Given the description of an element on the screen output the (x, y) to click on. 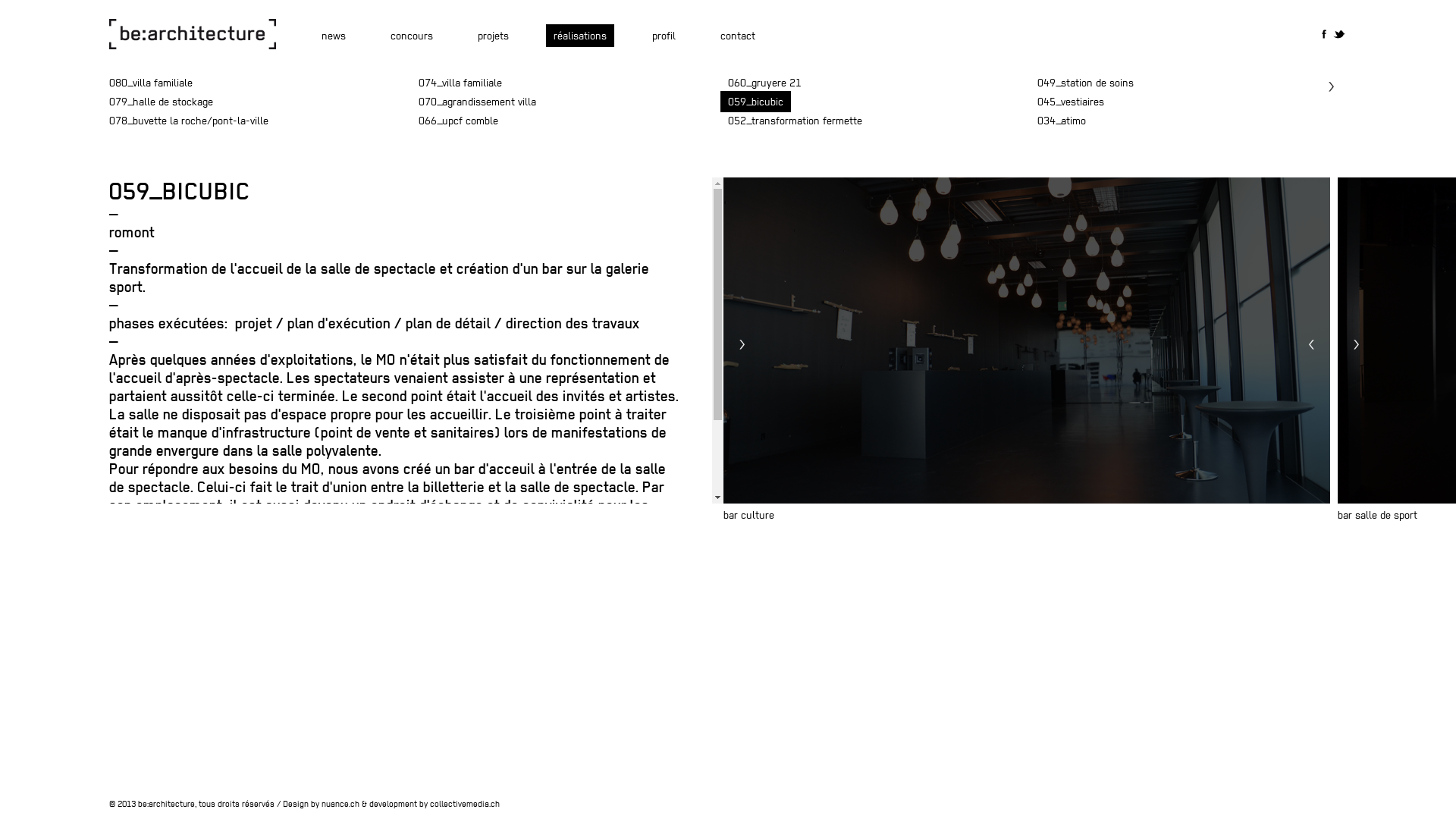
news Element type: text (333, 35)
066_upcf comble Element type: text (458, 120)
070_agrandissement villa Element type: text (477, 101)
concours Element type: text (411, 35)
045_vestiaires Element type: text (1070, 101)
060_gruyere 21 Element type: text (764, 82)
projets Element type: text (493, 35)
nuance.ch Element type: text (340, 803)
059_bicubic Element type: text (755, 101)
profil Element type: text (663, 35)
080_villa familiale Element type: text (150, 82)
contact Element type: text (737, 35)
collectivemedia.ch Element type: text (464, 803)
052_transformation fermette Element type: text (794, 120)
074_villa familiale  Element type: text (461, 82)
078_buvette la roche/pont-la-ville Element type: text (188, 120)
049_station de soins Element type: text (1085, 82)
034_atimo Element type: text (1061, 120)
079_halle de stockage Element type: text (160, 101)
